Given the description of an element on the screen output the (x, y) to click on. 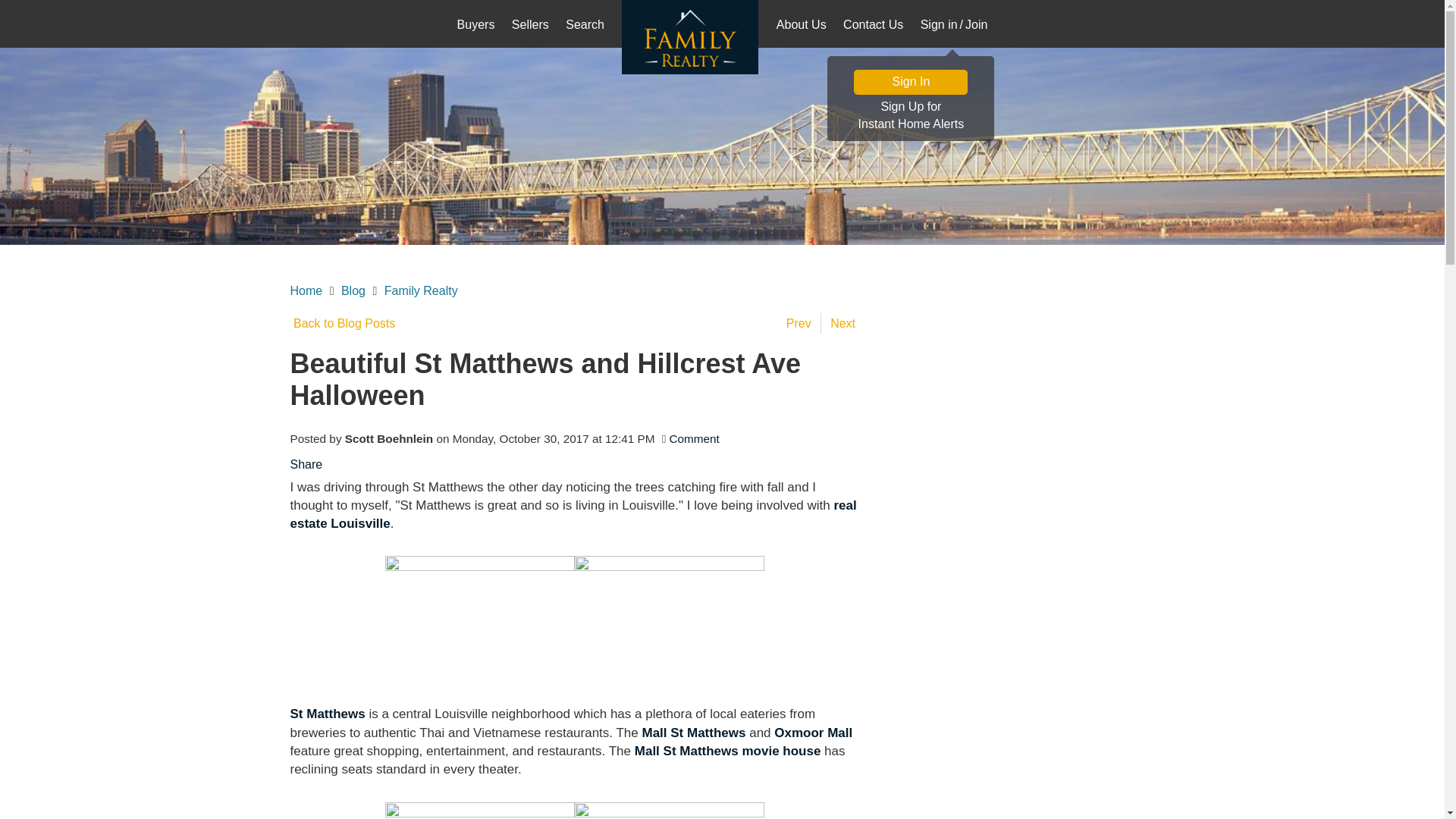
St Matthews (327, 713)
Oxmoor Mall (812, 732)
Blog (352, 290)
Buyers (475, 25)
About Us (801, 25)
Share (305, 463)
Family Realty (910, 116)
Contact Us (421, 290)
Back to Blog Posts (872, 25)
